Given the description of an element on the screen output the (x, y) to click on. 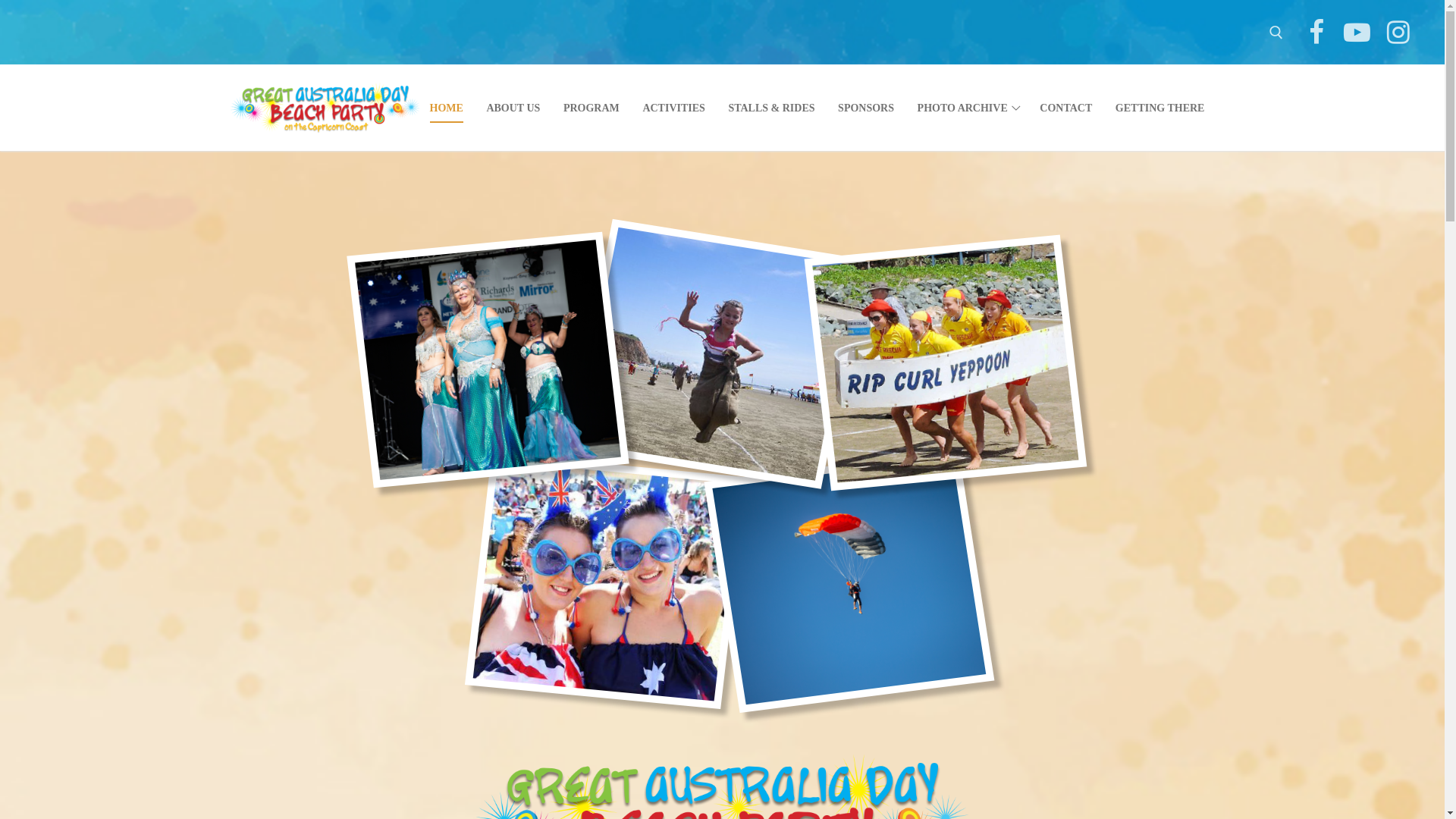
HOME Element type: text (446, 107)
SPONSORS Element type: text (865, 107)
ABOUT US Element type: text (512, 107)
CONTACT Element type: text (1065, 107)
Facebook Element type: hover (1315, 31)
Instagram Element type: hover (1397, 31)
PROGRAM Element type: text (591, 107)
GETTING THERE Element type: text (1159, 107)
Youtube Element type: hover (1356, 31)
PHOTO ARCHIVE
  Element type: text (966, 107)
ACTIVITIES Element type: text (673, 107)
STALLS & RIDES Element type: text (771, 107)
